Given the description of an element on the screen output the (x, y) to click on. 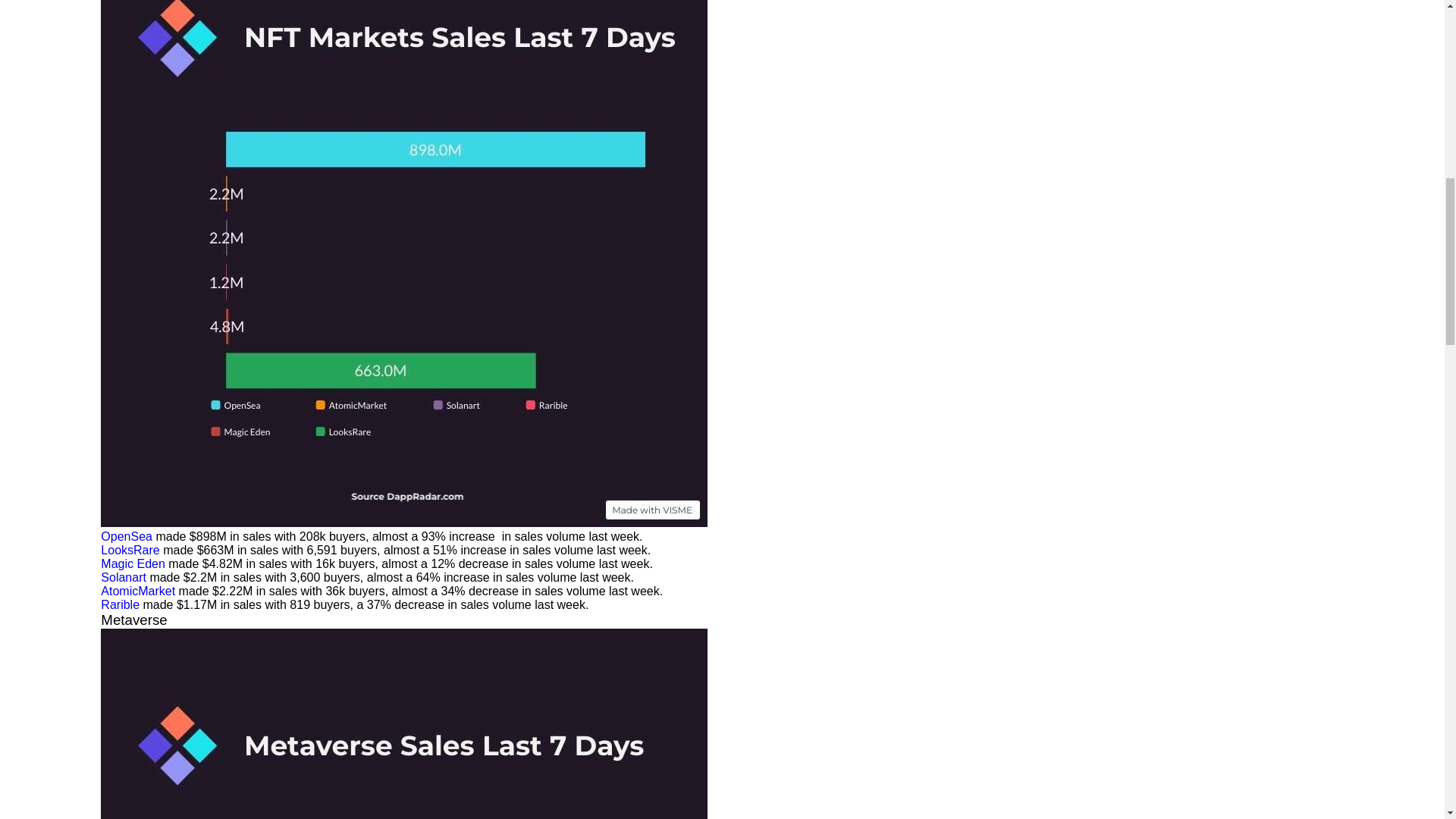
Rarible (119, 604)
Solanart (123, 576)
LooksRare (129, 549)
Magic Eden (132, 563)
AtomicMarket (137, 590)
OpenSea (126, 535)
